Given the description of an element on the screen output the (x, y) to click on. 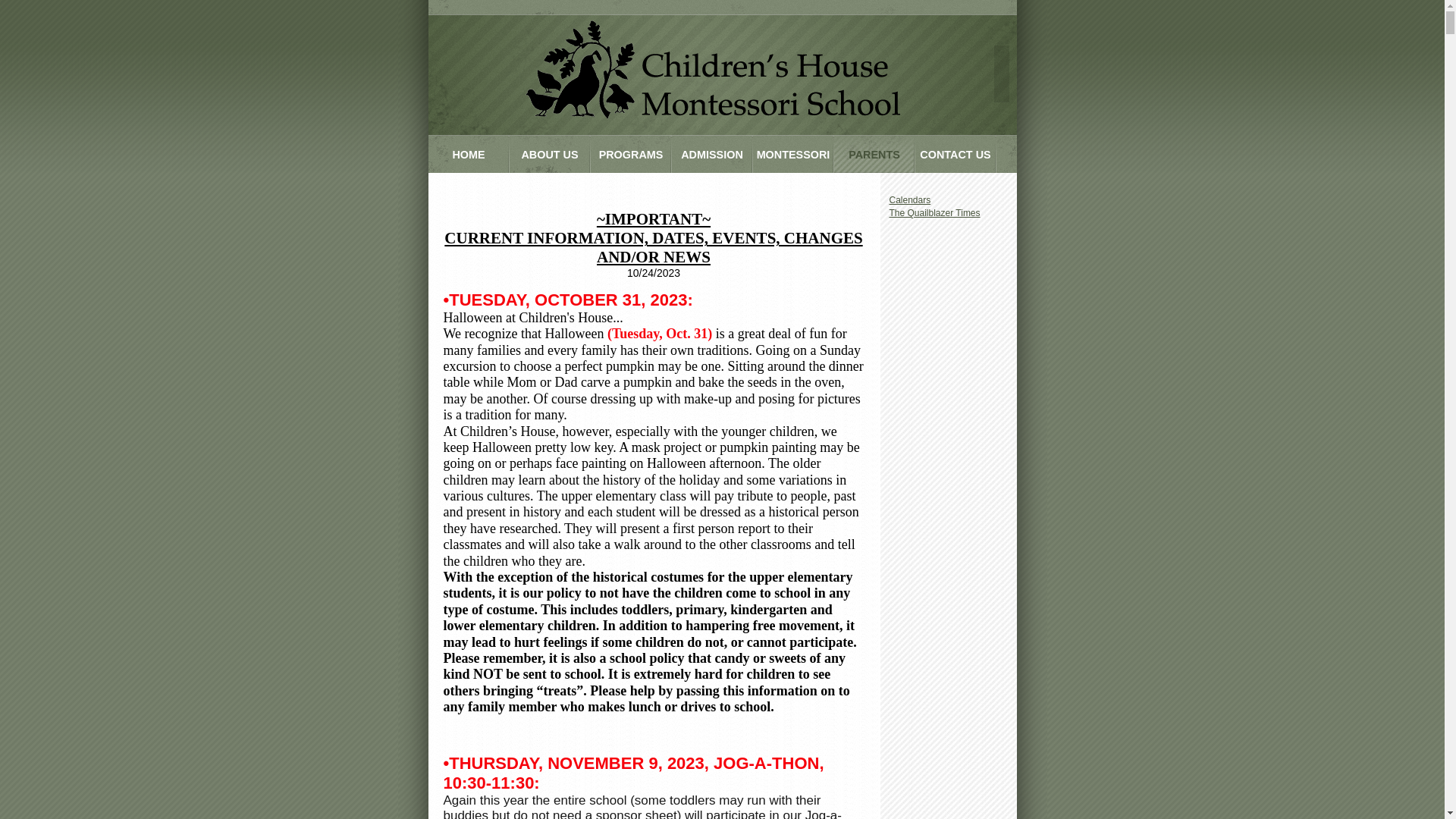
The Quailblazer Times Element type: text (934, 212)
ABOUT US Element type: text (549, 153)
HOME Element type: text (467, 153)
Calendars Element type: text (909, 199)
PARENTS Element type: text (874, 153)
ADMISSION Element type: text (712, 153)
CONTACT US Element type: text (954, 153)
MONTESSORI Element type: text (792, 153)
PROGRAMS Element type: text (630, 153)
